Given the description of an element on the screen output the (x, y) to click on. 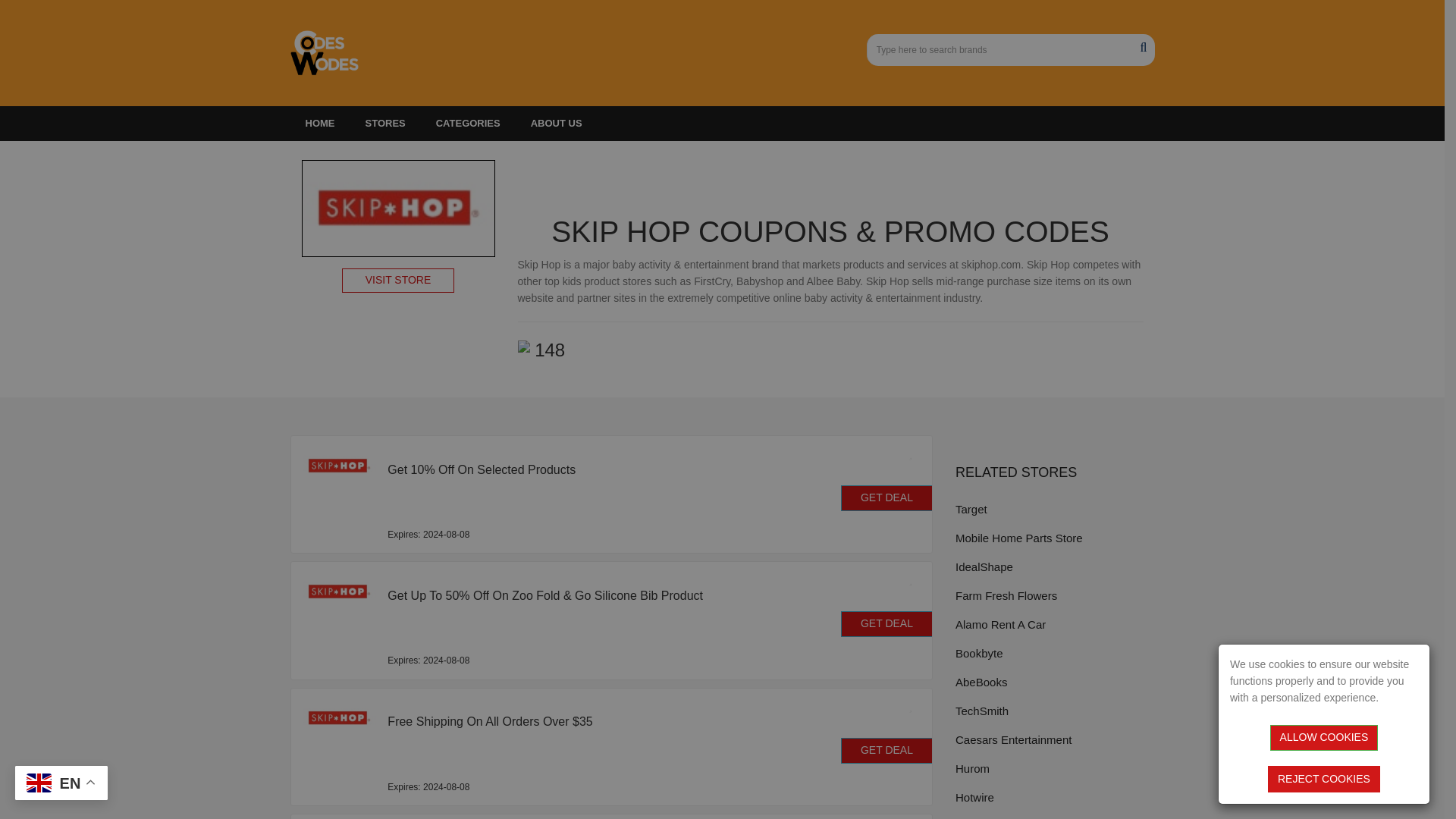
Hurom (1054, 768)
CATEGORIES (467, 123)
ABOUT US (555, 123)
GET DEAL (887, 750)
Mobile Home Parts Store (1054, 537)
GET DEAL (887, 498)
HOME (319, 123)
Farm Fresh Flowers (1054, 595)
VISIT STORE (398, 280)
Caesars Entertainment (1054, 739)
GET DEAL (887, 623)
Bookbyte (1054, 652)
IdealShape (1054, 566)
Alamo Rent A Car (1054, 624)
Target (1054, 508)
